Given the description of an element on the screen output the (x, y) to click on. 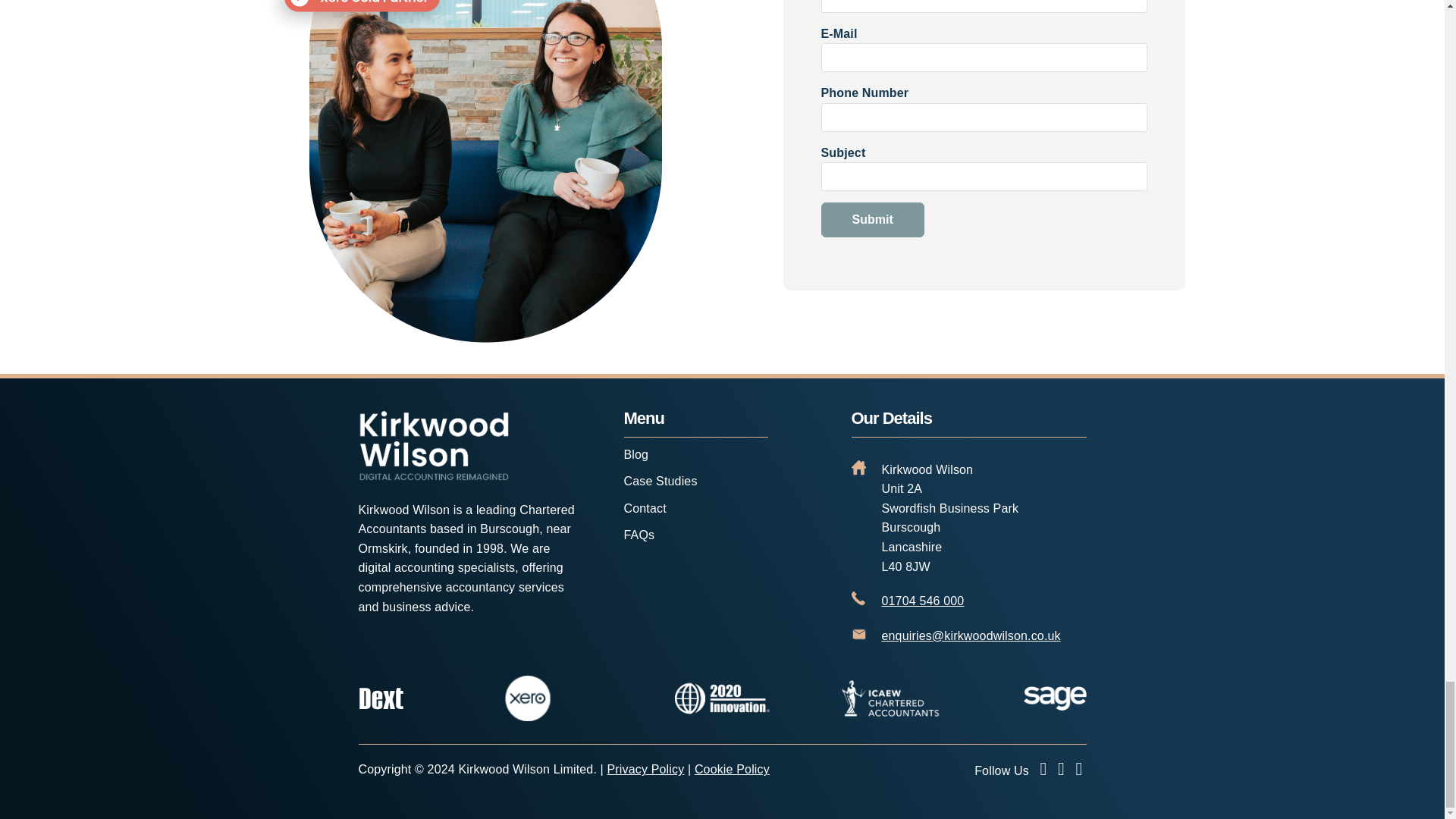
Submit (872, 219)
Submit (872, 219)
Blog (635, 454)
